Given the description of an element on the screen output the (x, y) to click on. 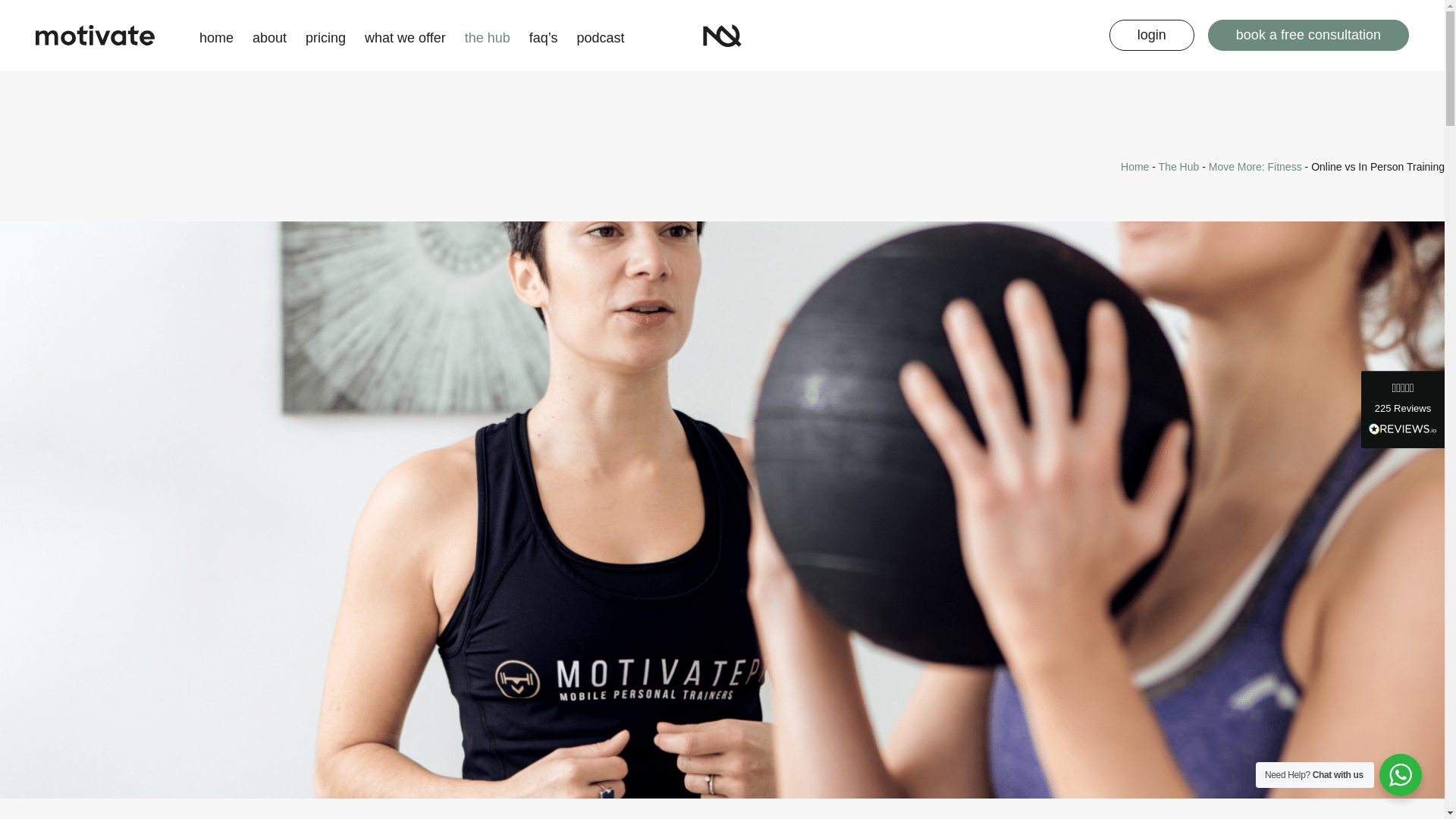
The Hub (1178, 166)
podcast (600, 35)
Move More: Fitness (1254, 166)
Home (1134, 166)
5 Stars (1402, 387)
REVIEWS.io (1402, 428)
book a free consultation (1308, 34)
what we offer (404, 35)
the hub (486, 35)
login (1151, 34)
